Given the description of an element on the screen output the (x, y) to click on. 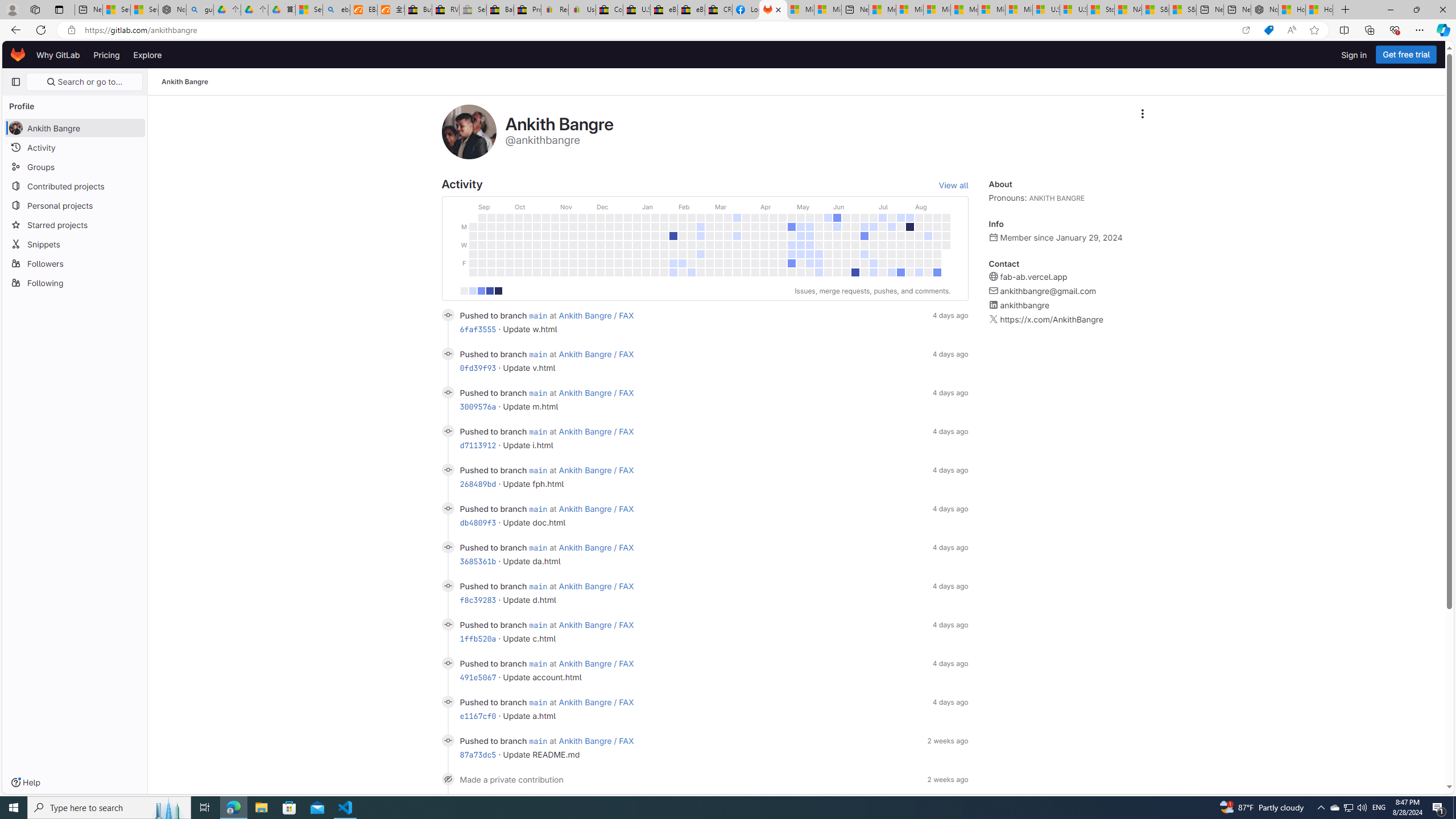
Primary navigation sidebar (15, 81)
Personal projects (74, 205)
Starred projects (74, 224)
No contributions (463, 290)
Press Room - eBay Inc. (527, 9)
